Given the description of an element on the screen output the (x, y) to click on. 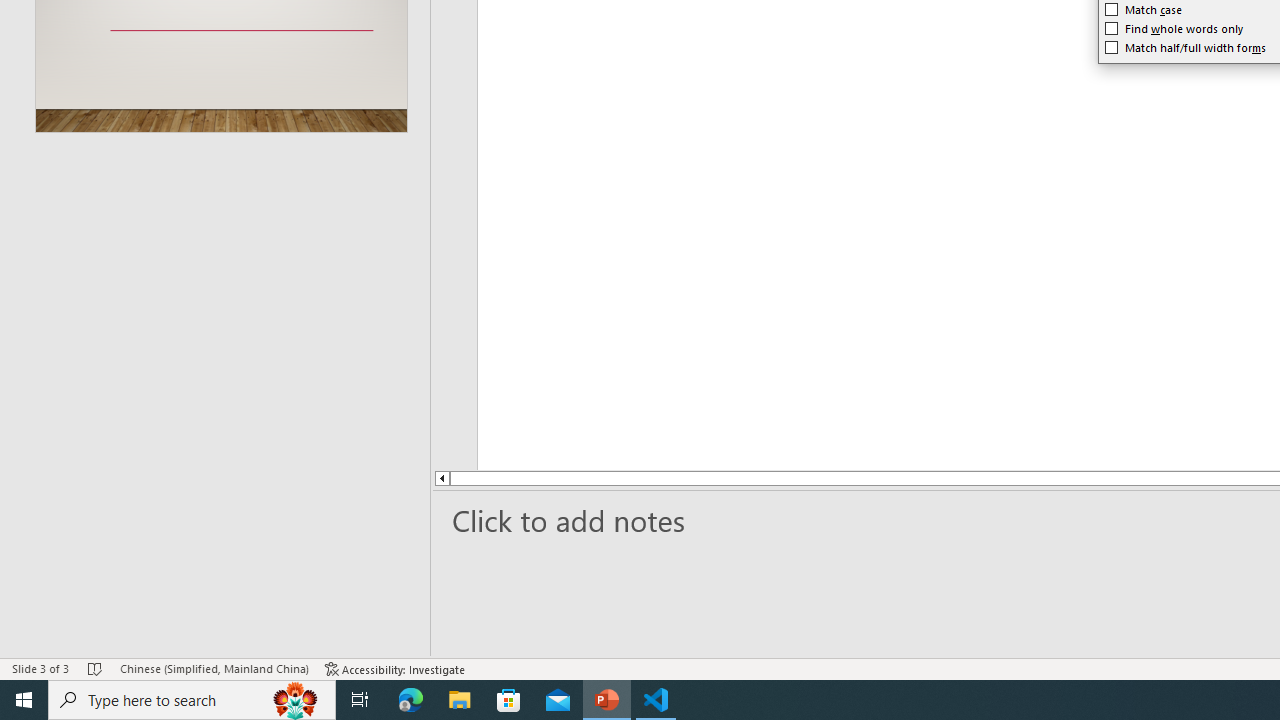
Find whole words only (1174, 28)
Microsoft Edge (411, 699)
Visual Studio Code - 1 running window (656, 699)
File Explorer (460, 699)
Match case (1144, 10)
Spell Check No Errors (95, 668)
Microsoft Store (509, 699)
Start (24, 699)
Accessibility Checker Accessibility: Investigate (395, 668)
Match half/full width forms (1186, 48)
Search highlights icon opens search home window (295, 699)
PowerPoint - 1 running window (607, 699)
Line up (381, 478)
Task View (359, 699)
Type here to search (191, 699)
